Given the description of an element on the screen output the (x, y) to click on. 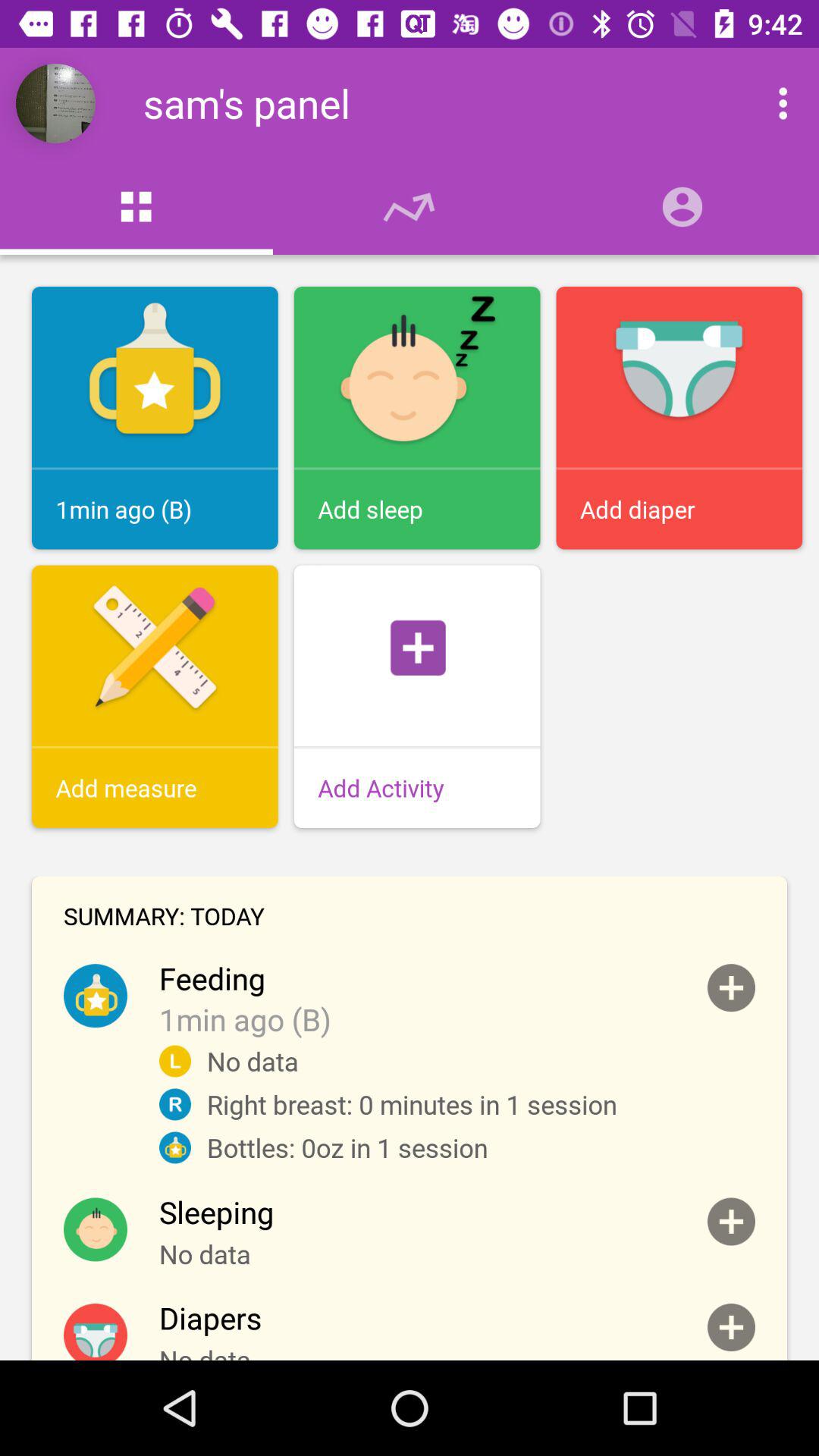
add diapers (731, 1327)
